Given the description of an element on the screen output the (x, y) to click on. 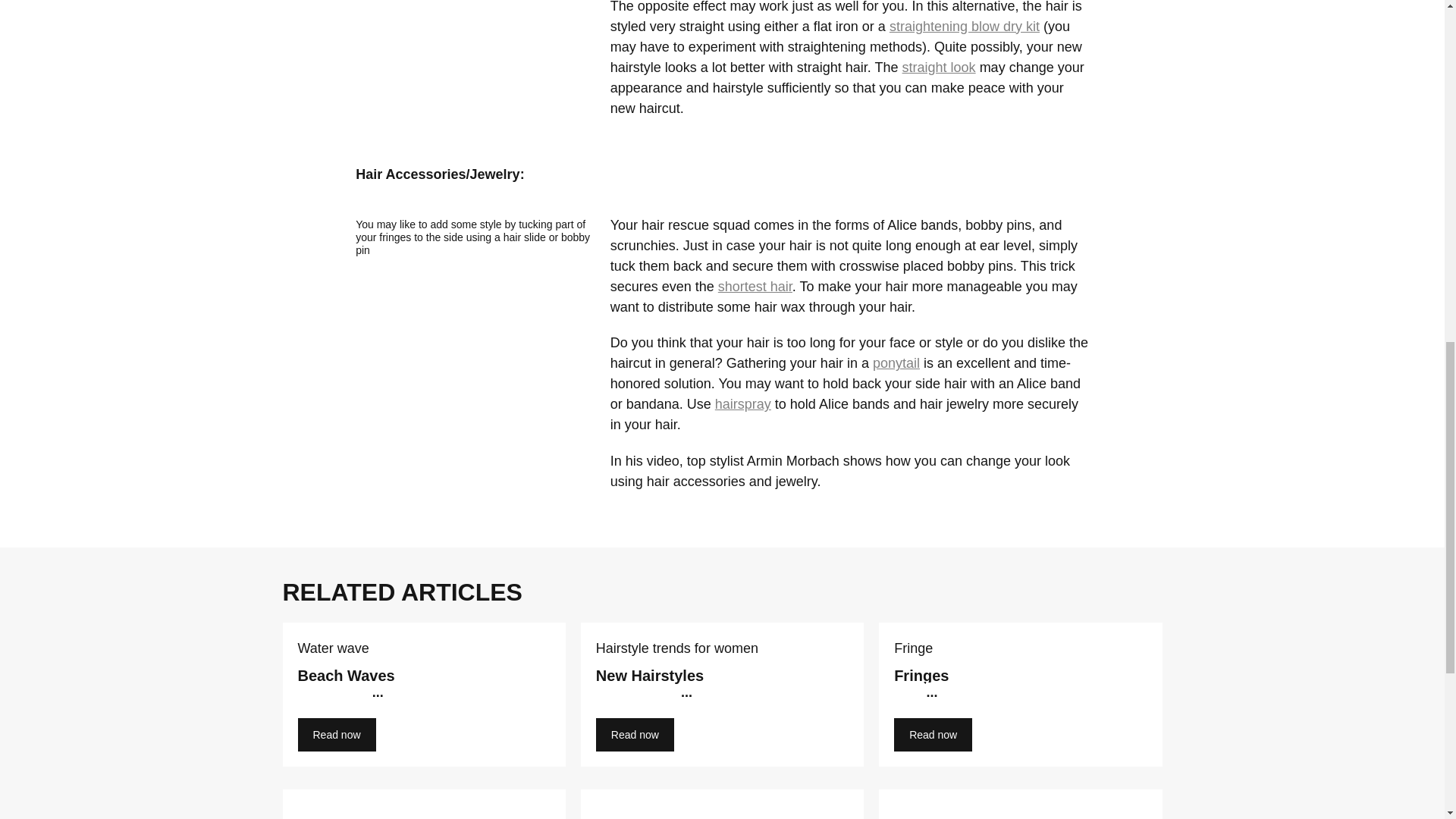
New Hairstyles (721, 697)
straight look (938, 67)
Fringes (1020, 697)
Beach Waves (423, 697)
straightening blow dry kit (964, 26)
hairspray (742, 403)
ponytail (896, 363)
shortest hair (754, 286)
Read now (336, 734)
